Given the description of an element on the screen output the (x, y) to click on. 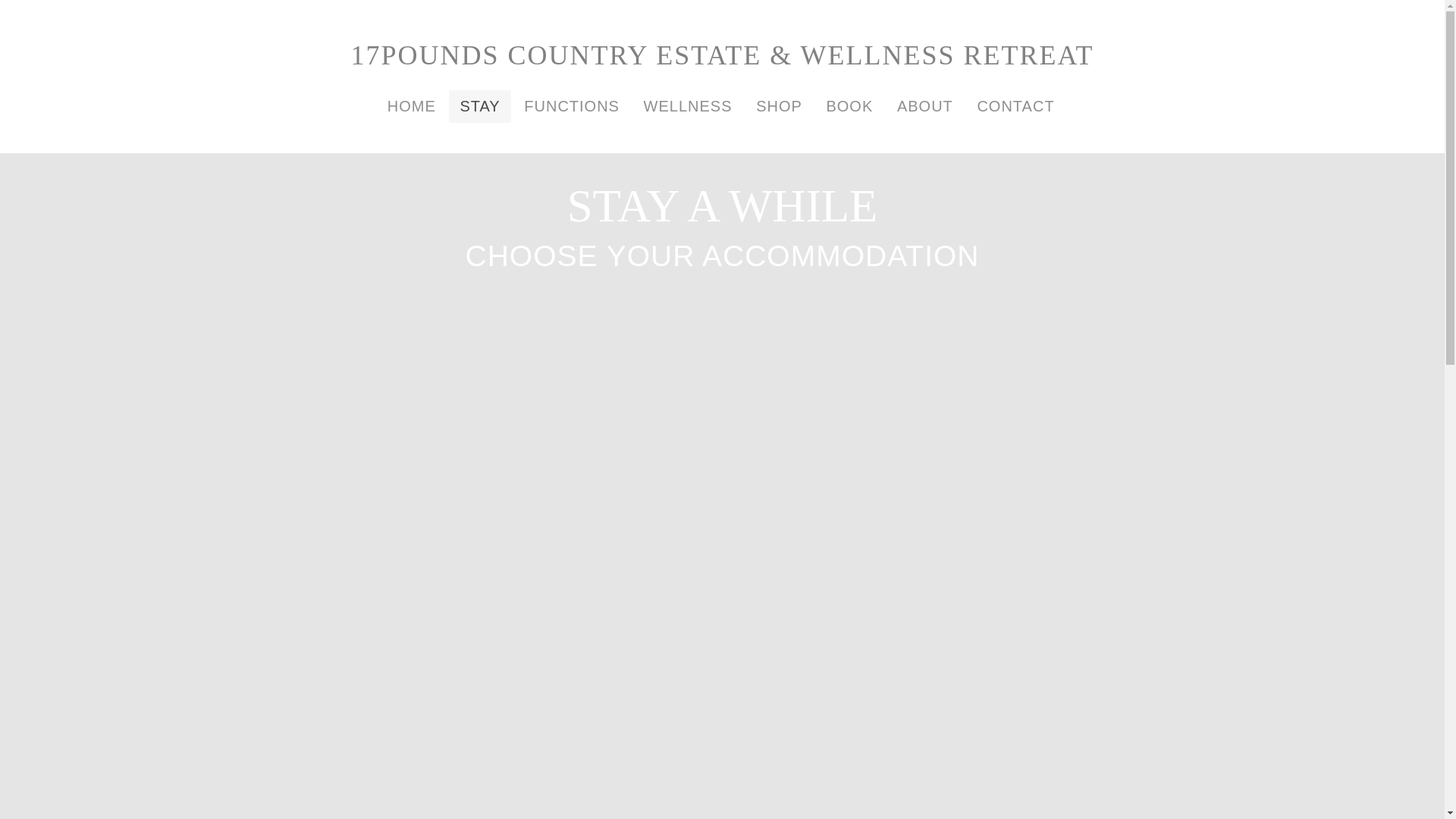
SHOP Element type: text (778, 106)
17POUNDS COUNTRY ESTATE & WELLNESS RETREAT Element type: text (721, 55)
ABOUT Element type: text (924, 106)
FUNCTIONS Element type: text (571, 106)
STAY Element type: text (479, 106)
BOOK Element type: text (849, 106)
HOME Element type: text (411, 106)
CONTACT Element type: text (1015, 106)
WELLNESS Element type: text (688, 106)
